Given the description of an element on the screen output the (x, y) to click on. 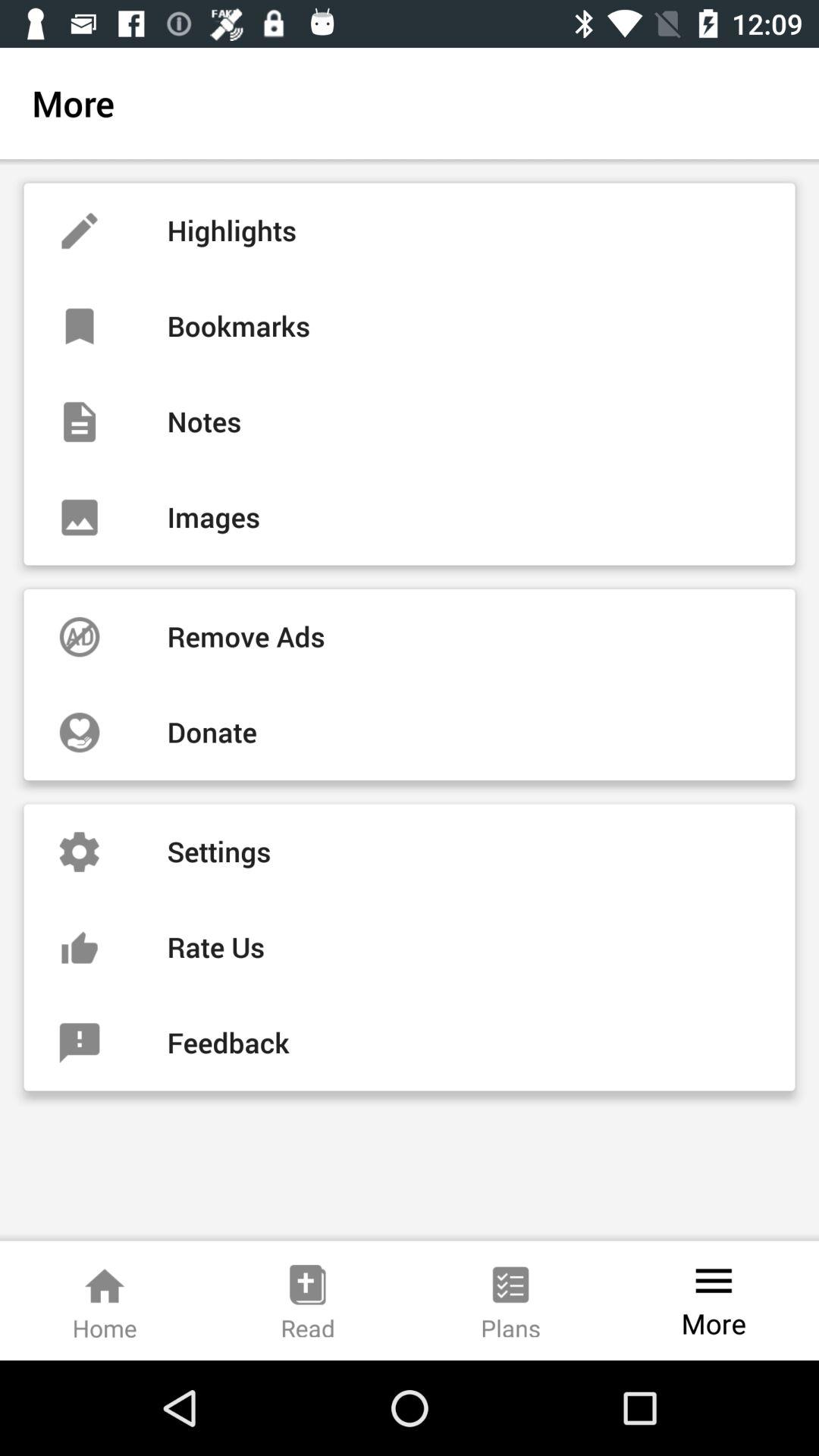
turn on item below the rate us item (409, 1042)
